Given the description of an element on the screen output the (x, y) to click on. 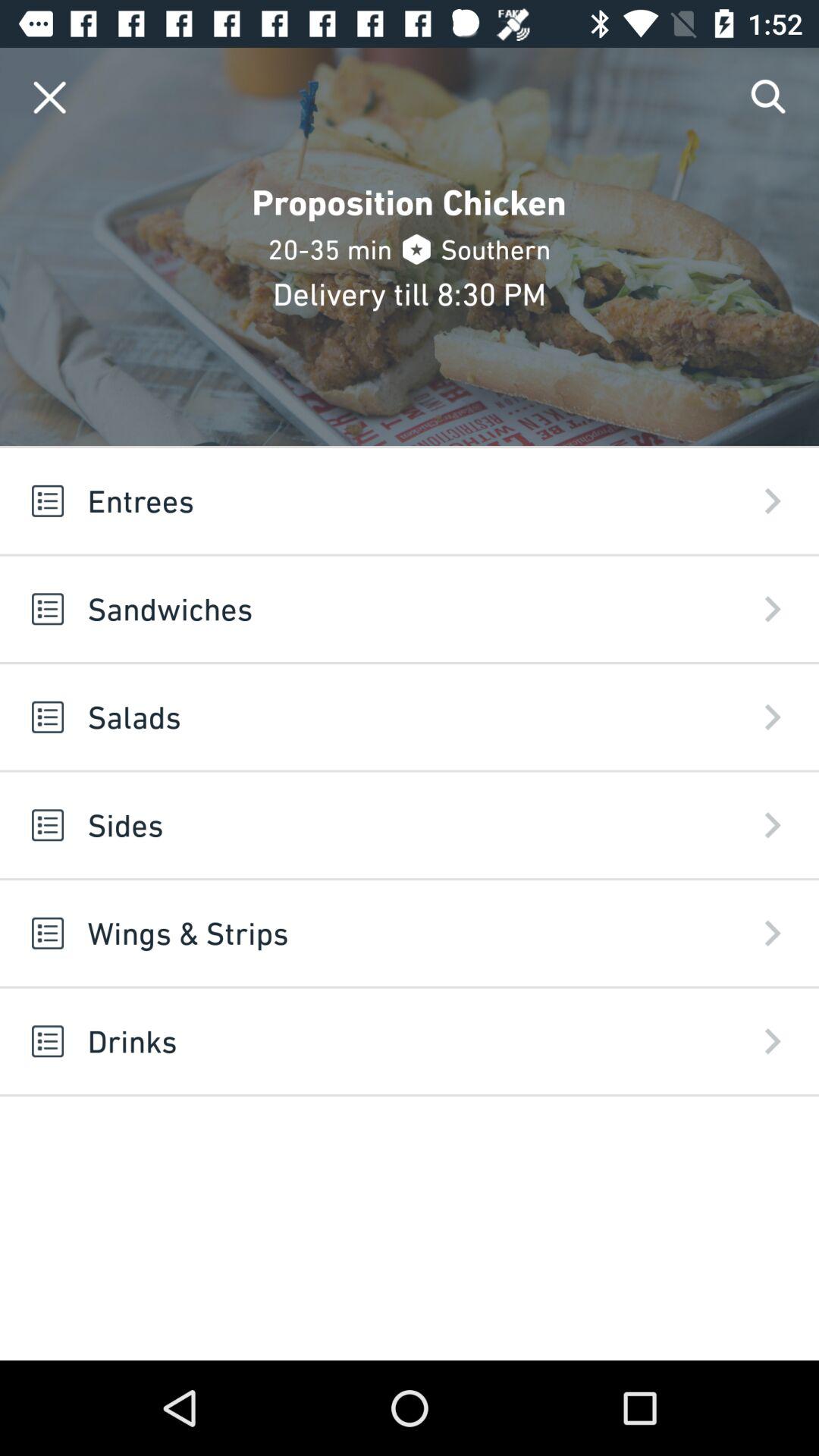
turn off item above entrees (769, 97)
